Given the description of an element on the screen output the (x, y) to click on. 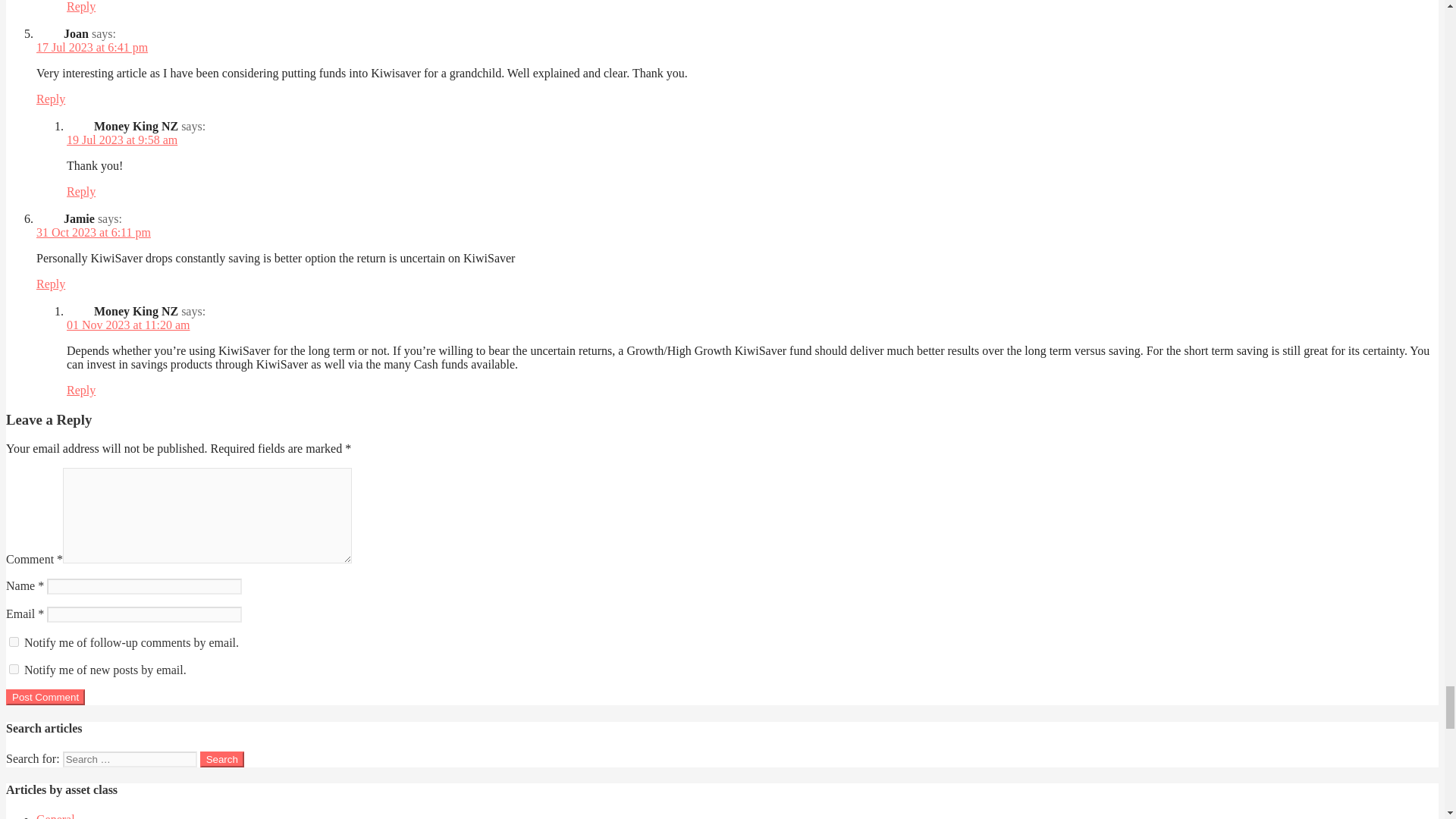
subscribe (13, 669)
Post Comment (44, 697)
subscribe (13, 642)
Search (222, 759)
Search (222, 759)
